Given the description of an element on the screen output the (x, y) to click on. 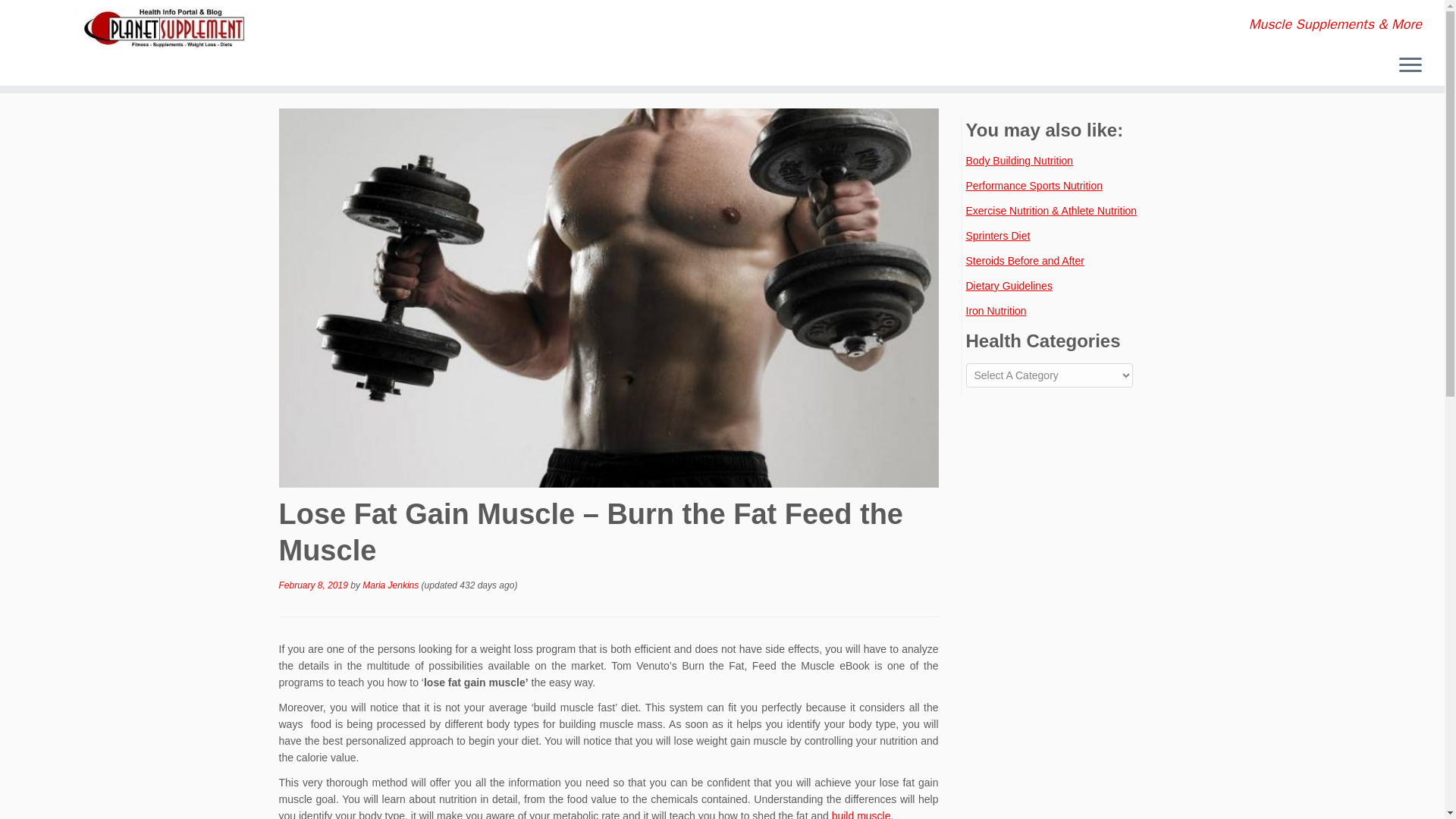
View all posts by Maria Jenkins (390, 584)
Dietary Guidelines (1009, 285)
Steroids Before and After (1025, 260)
9:35 am (313, 584)
February 8, 2019 (313, 584)
Sprinters Diet (998, 235)
build muscle (861, 814)
Maria Jenkins (390, 584)
Open the menu (1410, 65)
Iron Nutrition (996, 310)
